Given the description of an element on the screen output the (x, y) to click on. 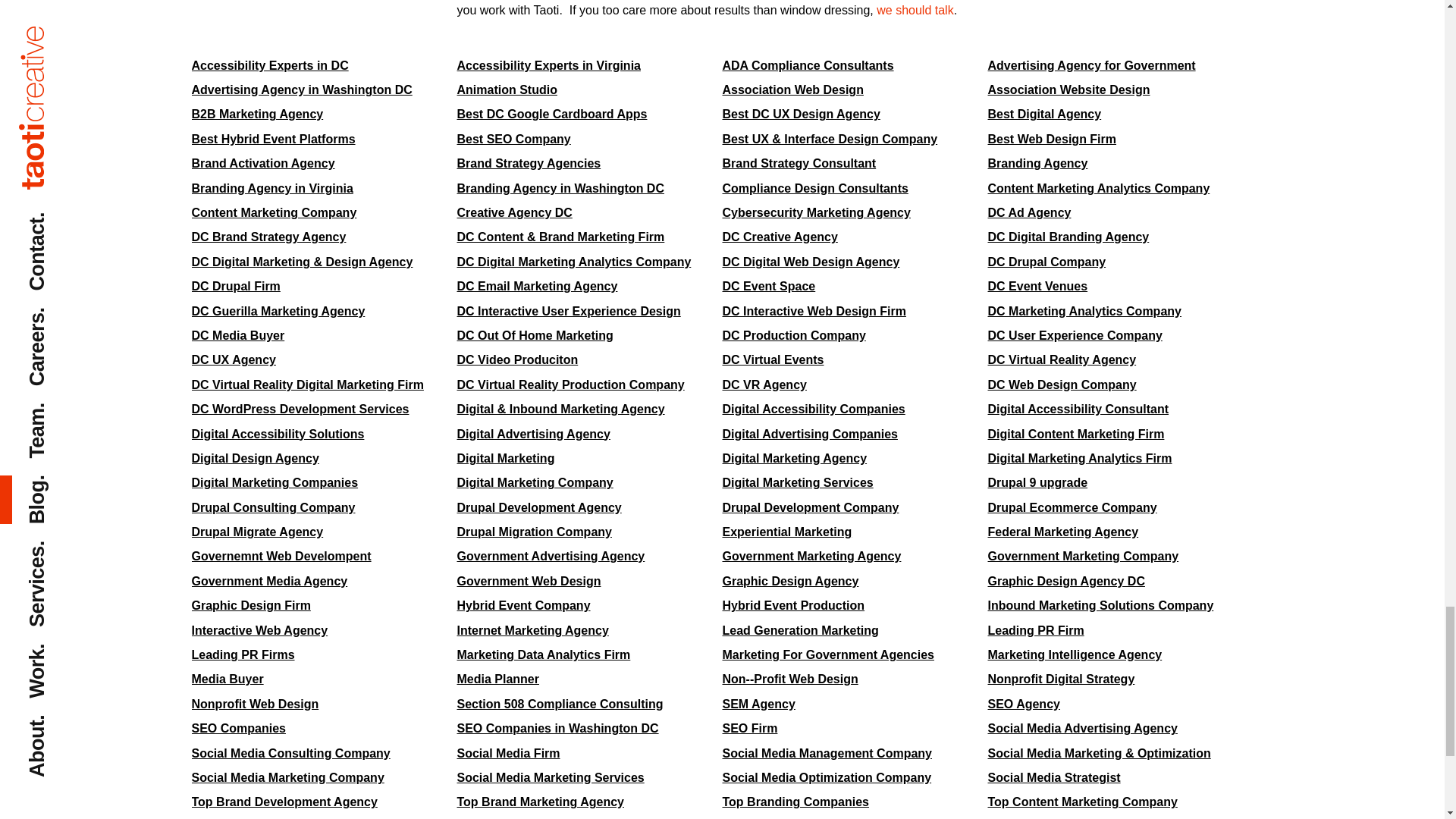
we should talk (914, 10)
Accessibility Experts in Virginia (548, 65)
Accessibility Experts in DC (268, 65)
